Given the description of an element on the screen output the (x, y) to click on. 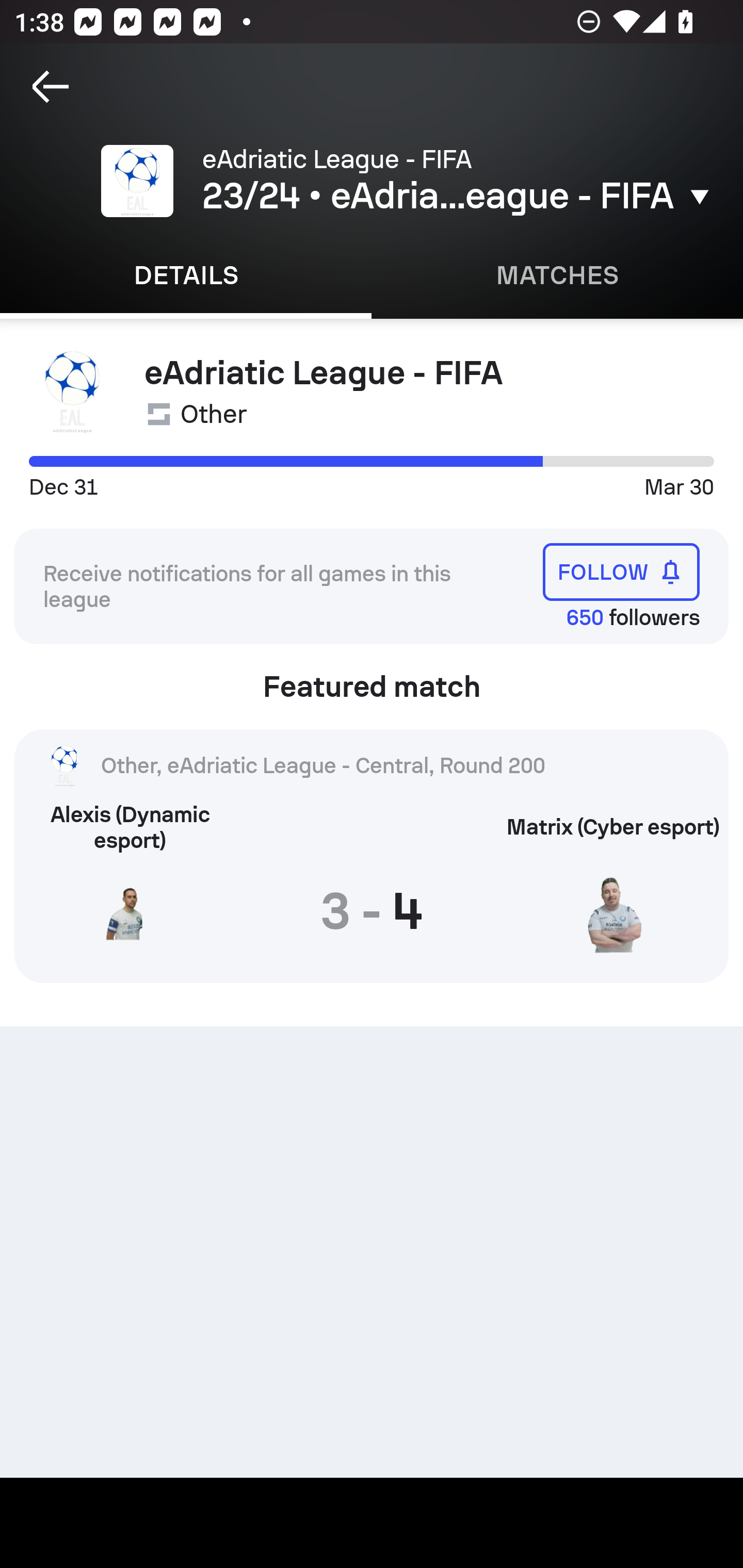
Navigate up (50, 86)
23/24 • eAdriatic League - FIFA (458, 195)
Matches MATCHES (557, 275)
FOLLOW (621, 571)
